Given the description of an element on the screen output the (x, y) to click on. 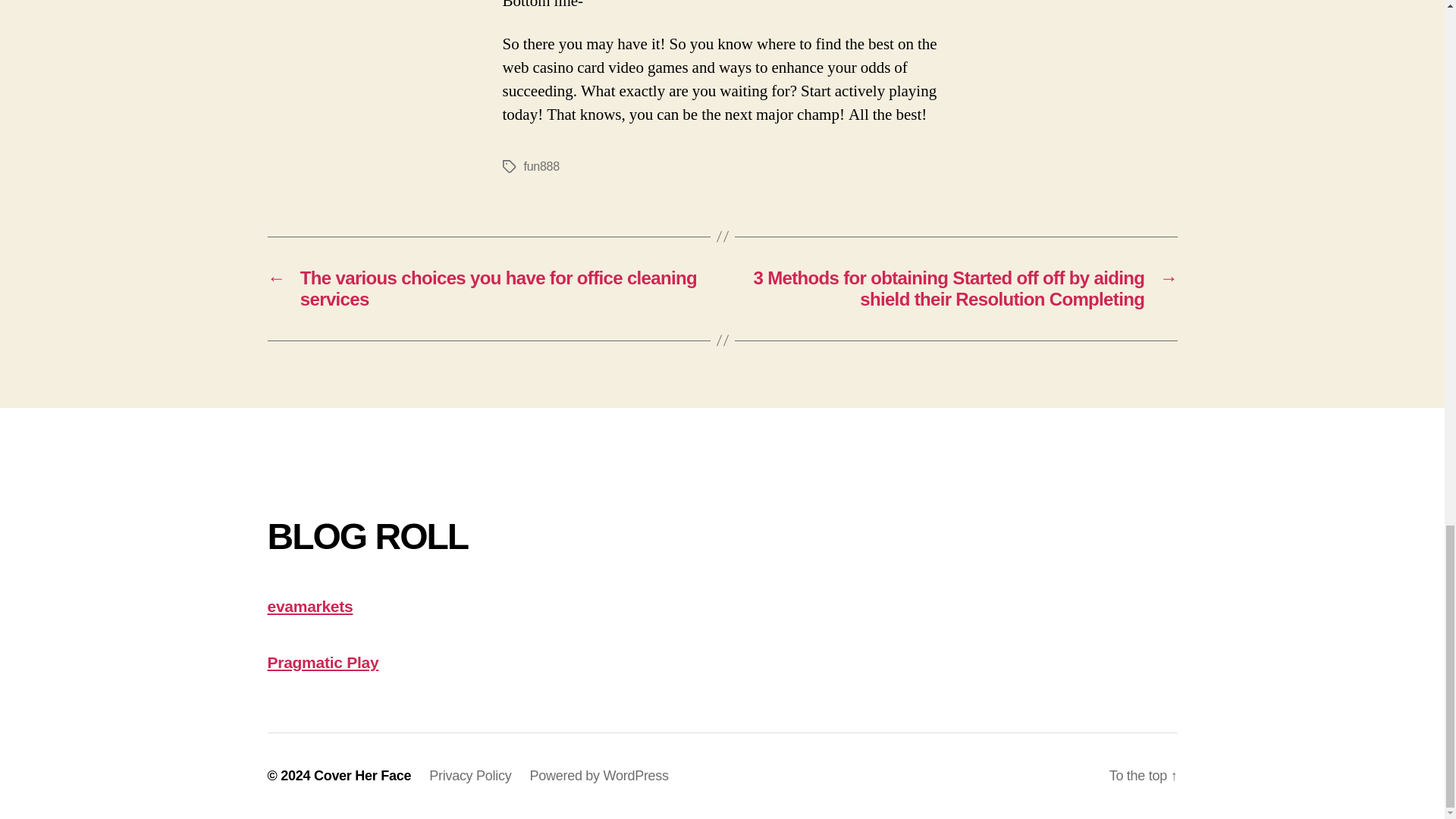
Cover Her Face (362, 775)
fun888 (540, 165)
Pragmatic Play (322, 661)
evamarkets (309, 606)
Powered by WordPress (598, 775)
Privacy Policy (470, 775)
